Given the description of an element on the screen output the (x, y) to click on. 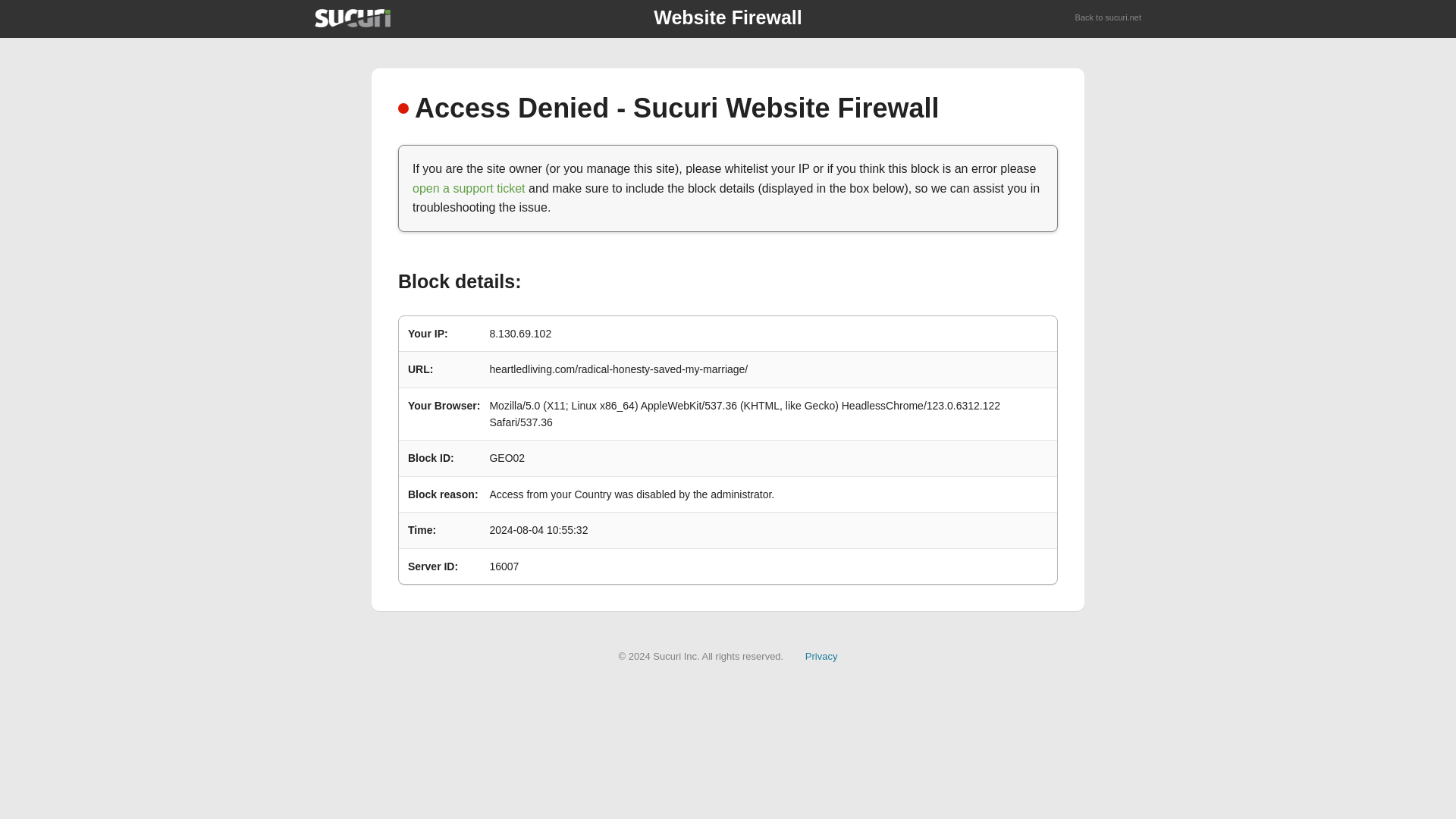
Privacy (821, 655)
Back to sucuri.net (1108, 18)
open a support ticket (468, 187)
